Given the description of an element on the screen output the (x, y) to click on. 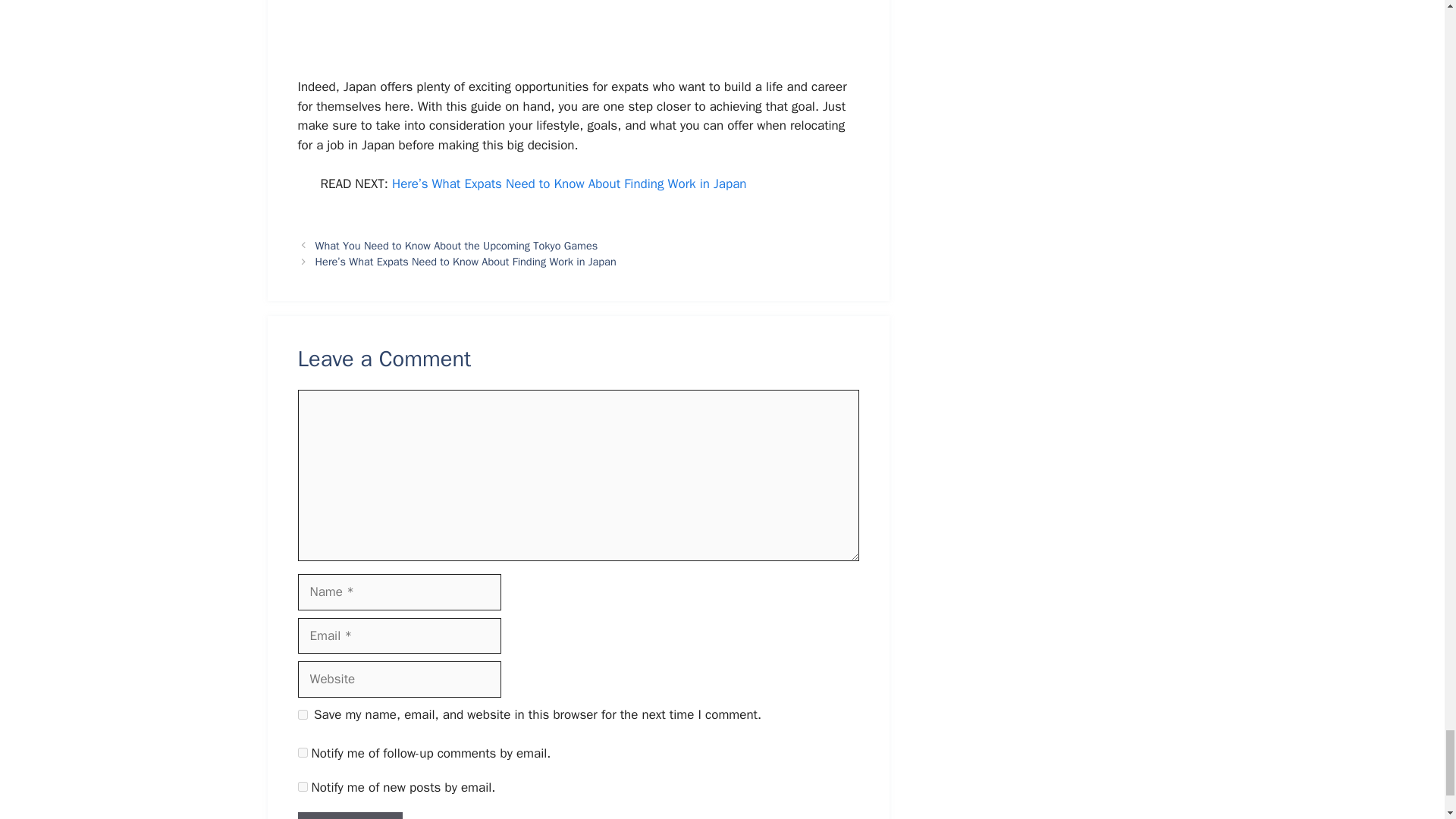
subscribe (302, 786)
yes (302, 714)
Post Comment (349, 815)
subscribe (302, 752)
What You Need to Know About the Upcoming Tokyo Games (456, 245)
Post Comment (349, 815)
